Given the description of an element on the screen output the (x, y) to click on. 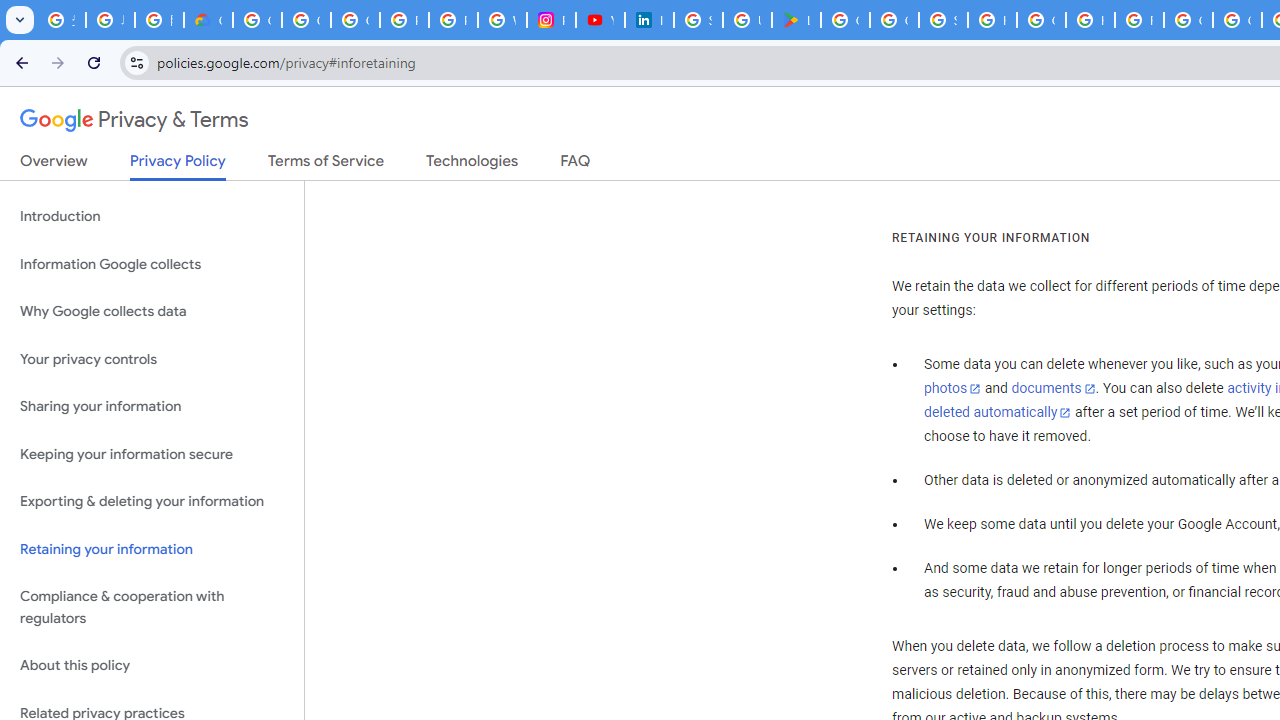
Sharing your information (152, 407)
Keeping your information secure (152, 453)
Identity verification via Persona | LinkedIn Help (649, 20)
Overview (54, 165)
Your privacy controls (152, 358)
Why Google collects data (152, 312)
documents (1053, 389)
